Given the description of an element on the screen output the (x, y) to click on. 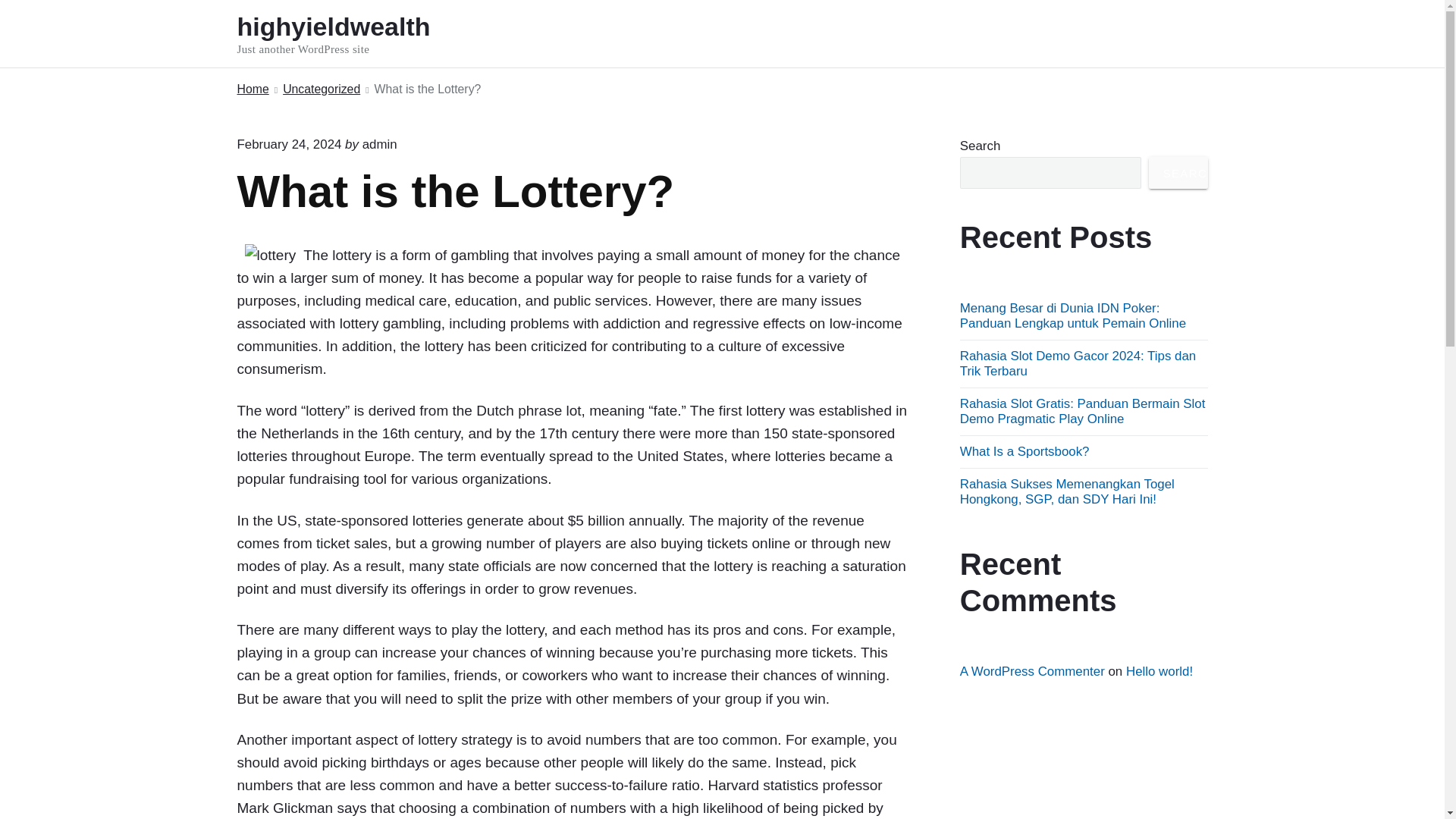
Home (251, 89)
Posts by admin (379, 144)
What Is a Sportsbook? (1024, 451)
Rahasia Slot Demo Gacor 2024: Tips dan Trik Terbaru (1077, 363)
A WordPress Commenter (1032, 671)
admin (379, 144)
Hello world! (1158, 671)
SEARCH (1178, 173)
Uncategorized (320, 89)
Saturday, February 24, 2024, 4:36 am (353, 33)
